Given the description of an element on the screen output the (x, y) to click on. 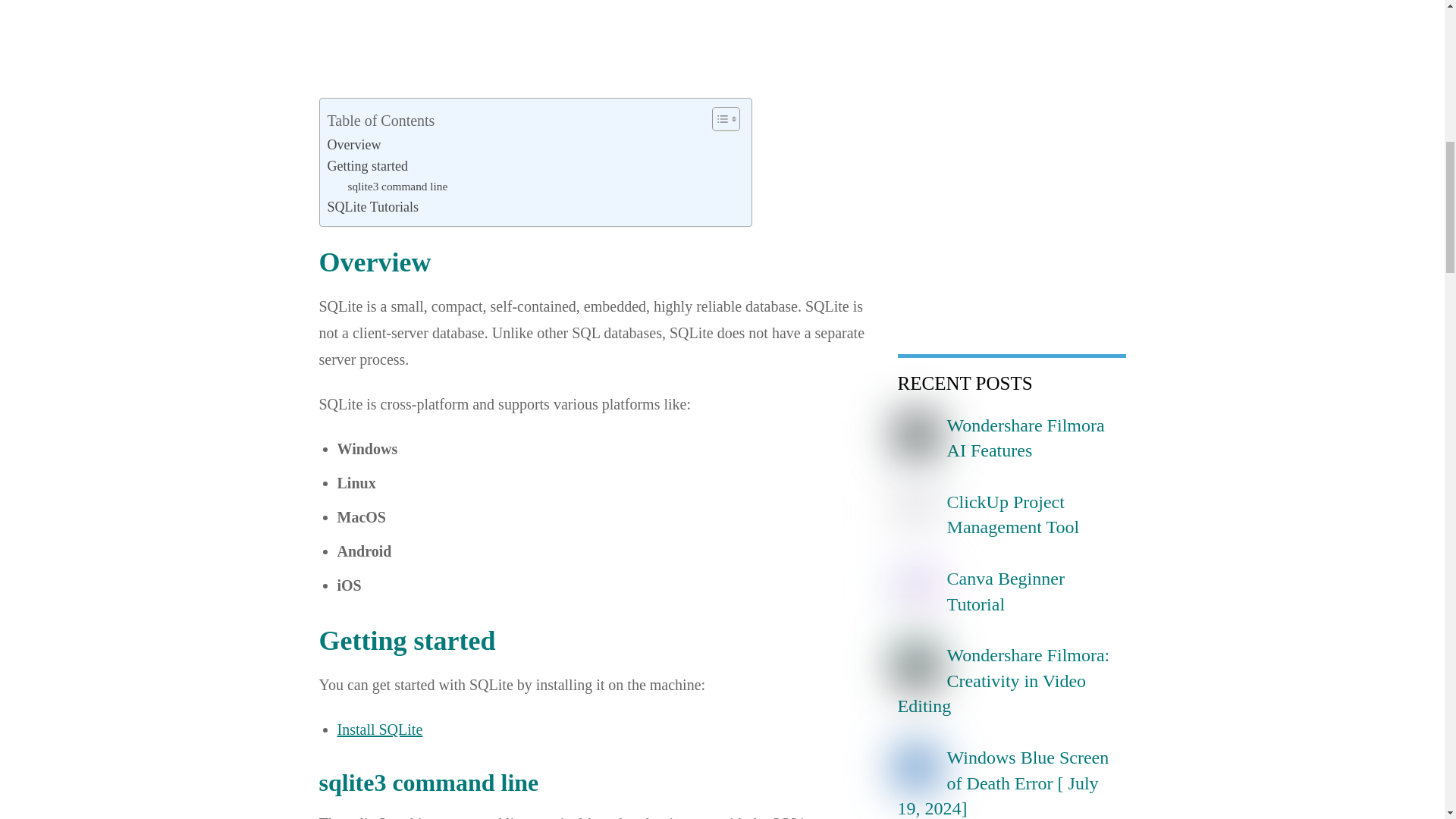
Overview (354, 145)
SQLite Tutorials (373, 207)
sqlite3 command line (396, 186)
Getting started (367, 166)
Overview (354, 145)
Getting started (367, 166)
Install SQLite (379, 729)
SQLite Tutorials (373, 207)
sqlite3 command line (396, 186)
